Given the description of an element on the screen output the (x, y) to click on. 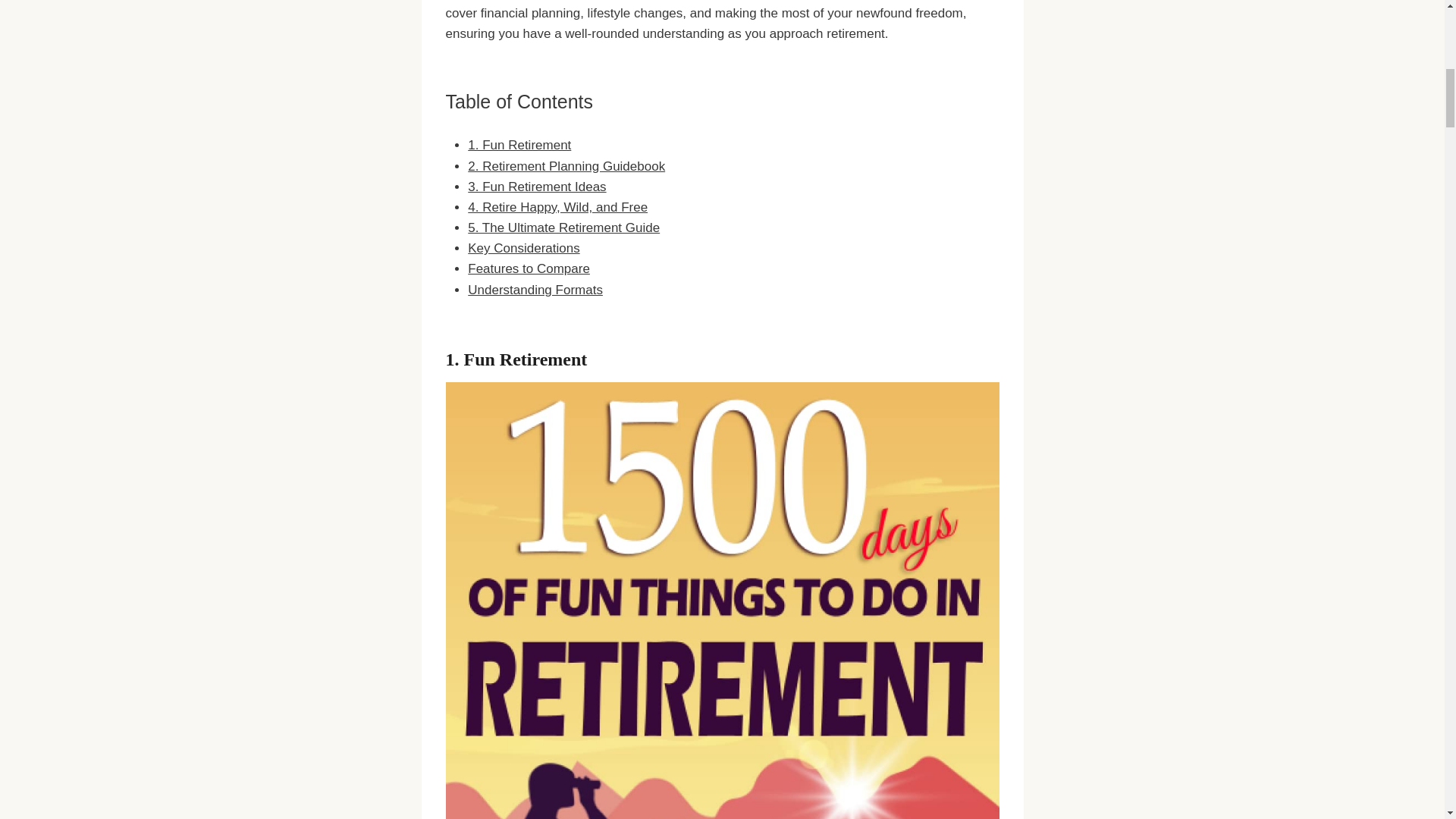
1. Fun Retirement (518, 145)
Features to Compare (528, 268)
Fun Retirement (526, 359)
Key Considerations (523, 247)
3. Fun Retirement Ideas (536, 186)
5. The Ultimate Retirement Guide (563, 227)
Understanding Formats (534, 289)
4. Retire Happy, Wild, and Free (557, 206)
2. Retirement Planning Guidebook (566, 165)
